Given the description of an element on the screen output the (x, y) to click on. 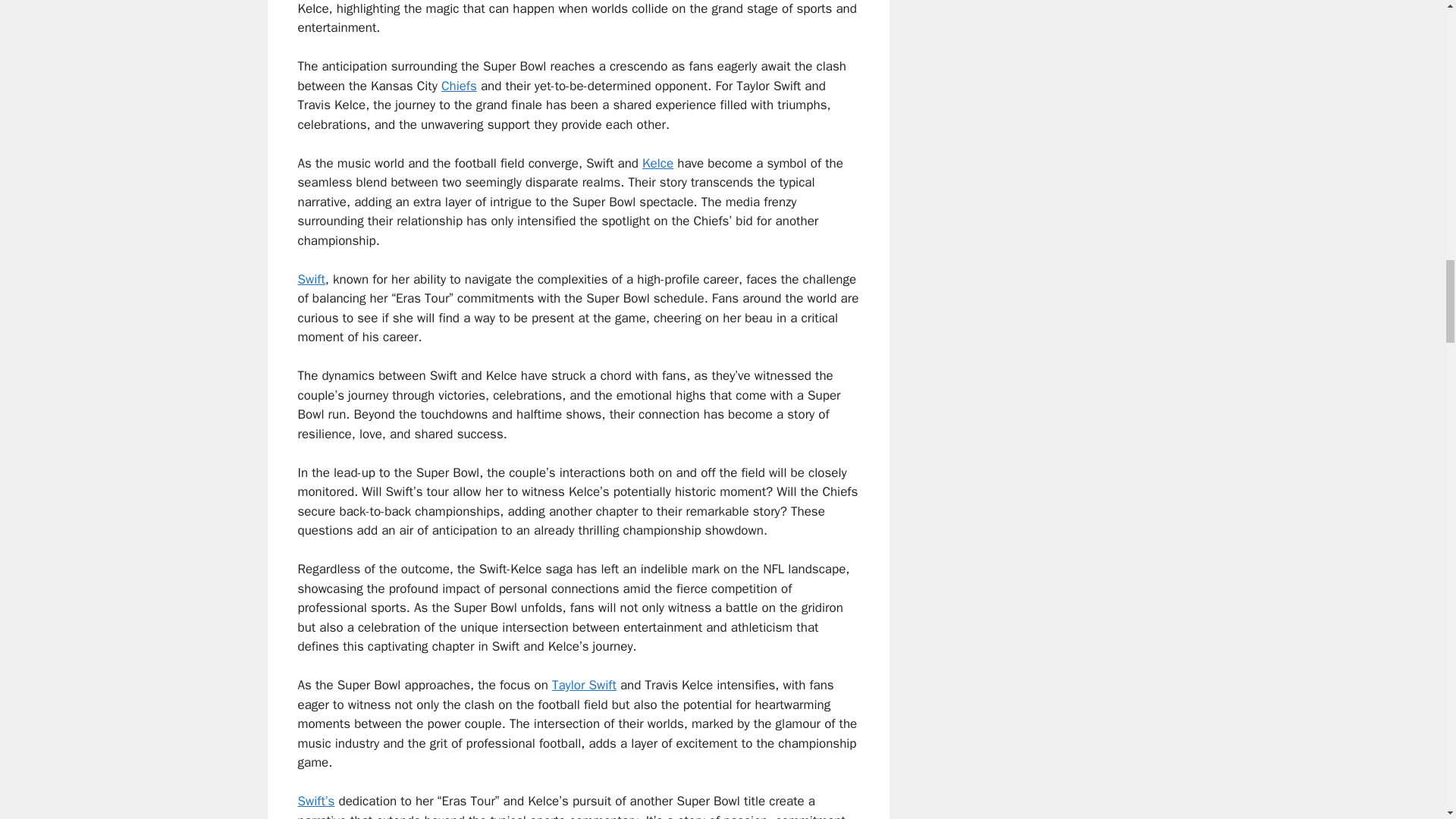
Swift (310, 279)
Taylor Swift (583, 684)
Kelce (657, 163)
Chiefs (459, 85)
